Given the description of an element on the screen output the (x, y) to click on. 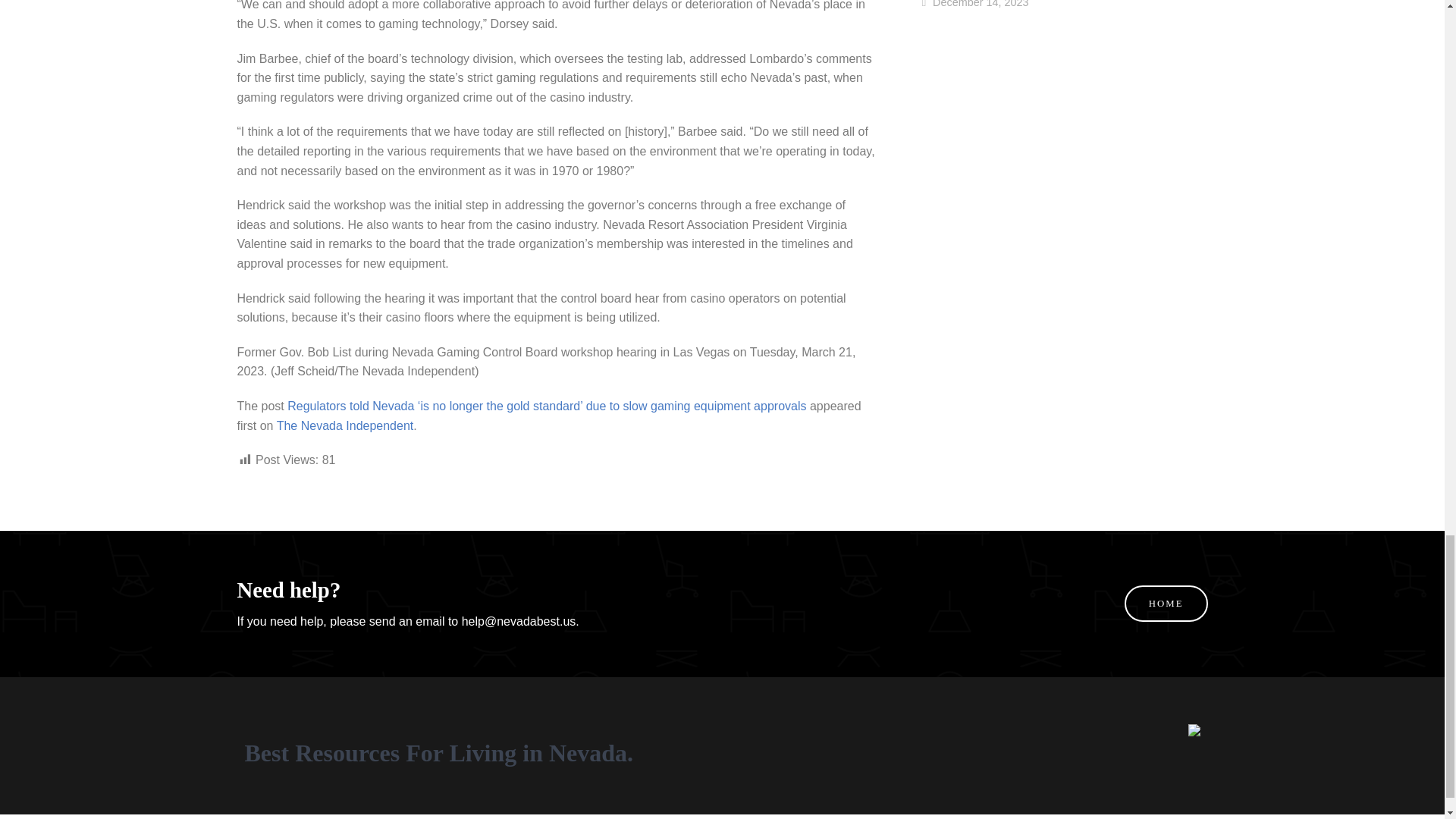
The Nevada Independent (344, 425)
